Given the description of an element on the screen output the (x, y) to click on. 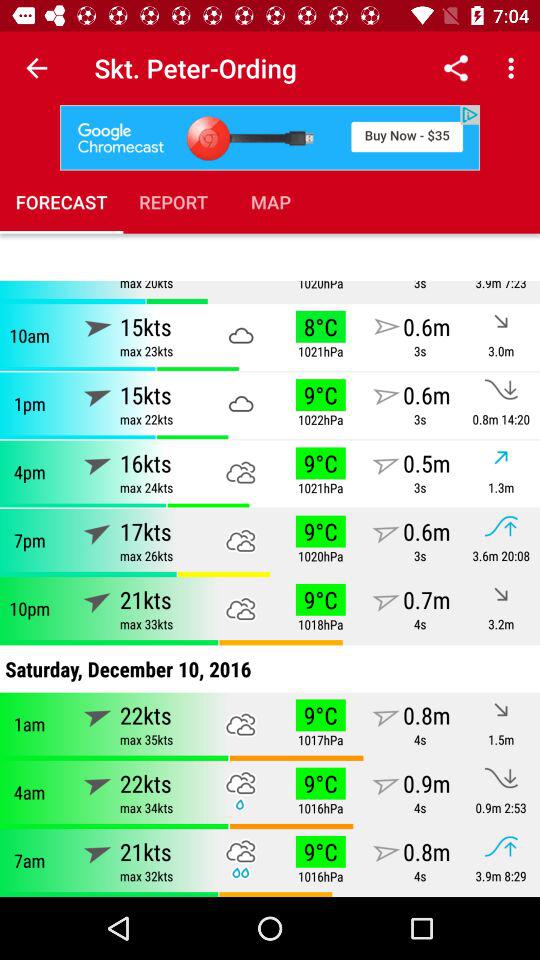
click on the icon beside 1 am (99, 714)
